Given the description of an element on the screen output the (x, y) to click on. 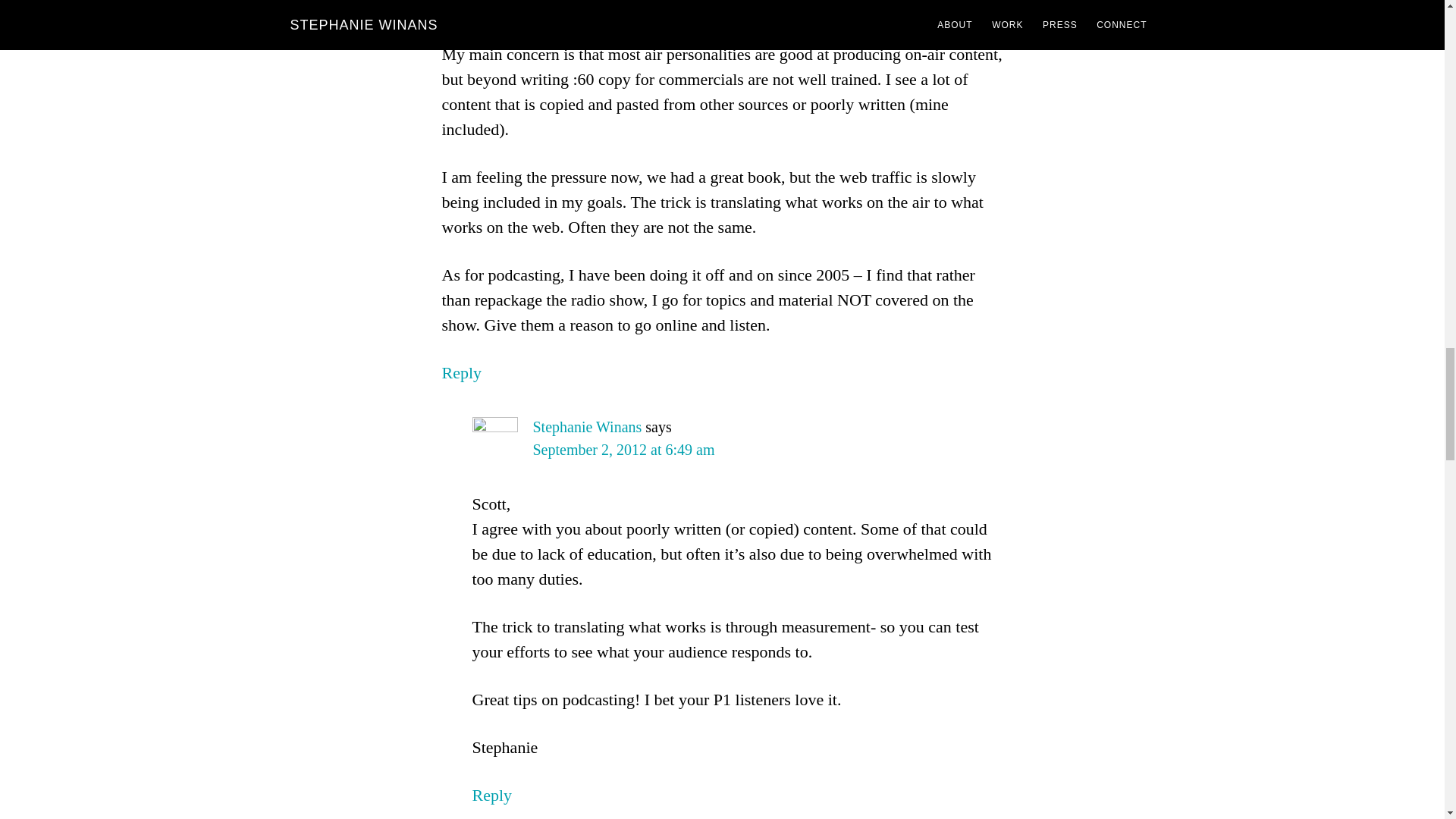
August 31, 2012 at 7:44 pm (586, 4)
Stephanie Winans (587, 426)
Reply (491, 794)
September 2, 2012 at 6:49 am (623, 449)
Reply (461, 372)
